Given the description of an element on the screen output the (x, y) to click on. 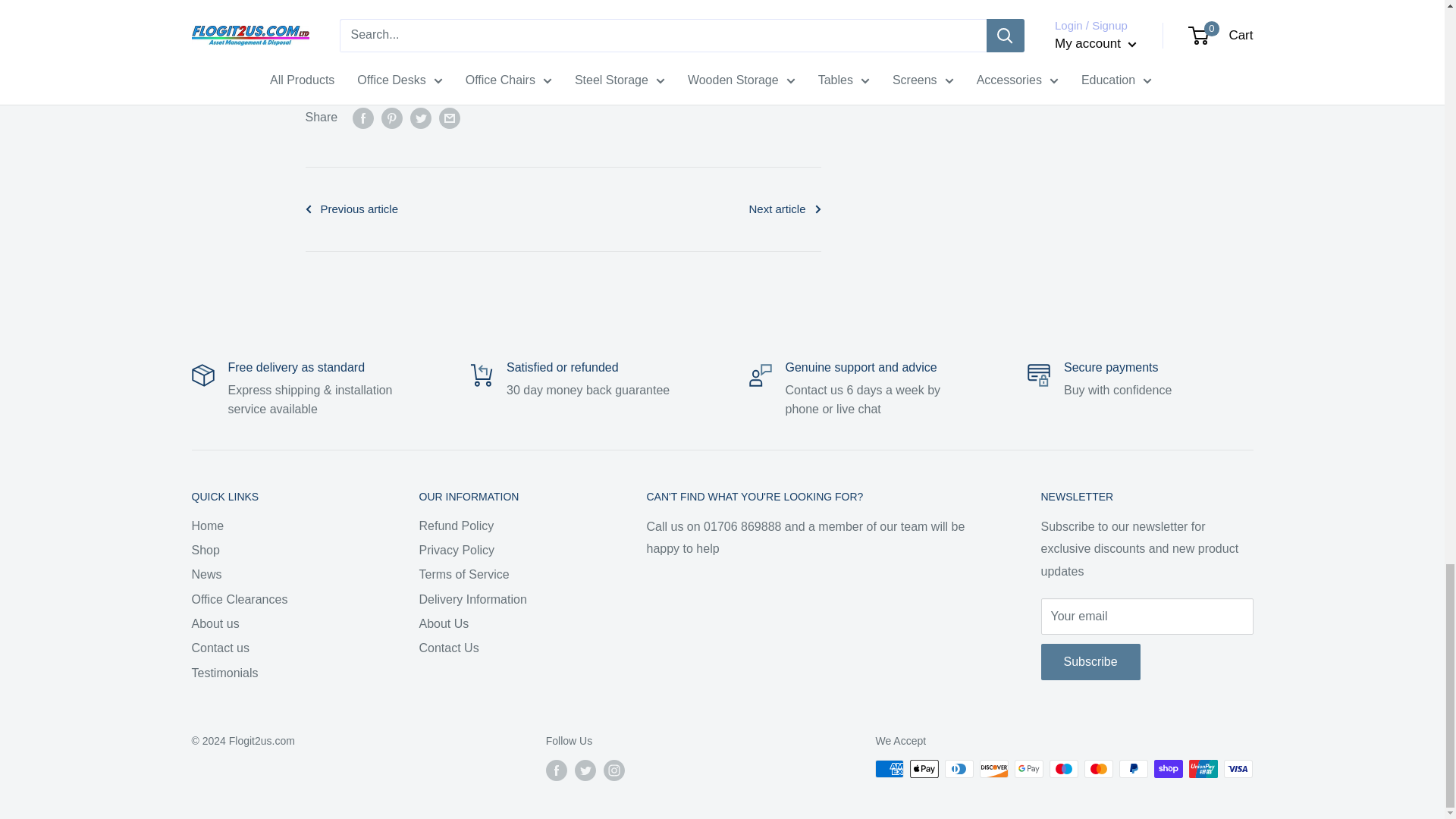
Flogit2us.com (359, 20)
